Given the description of an element on the screen output the (x, y) to click on. 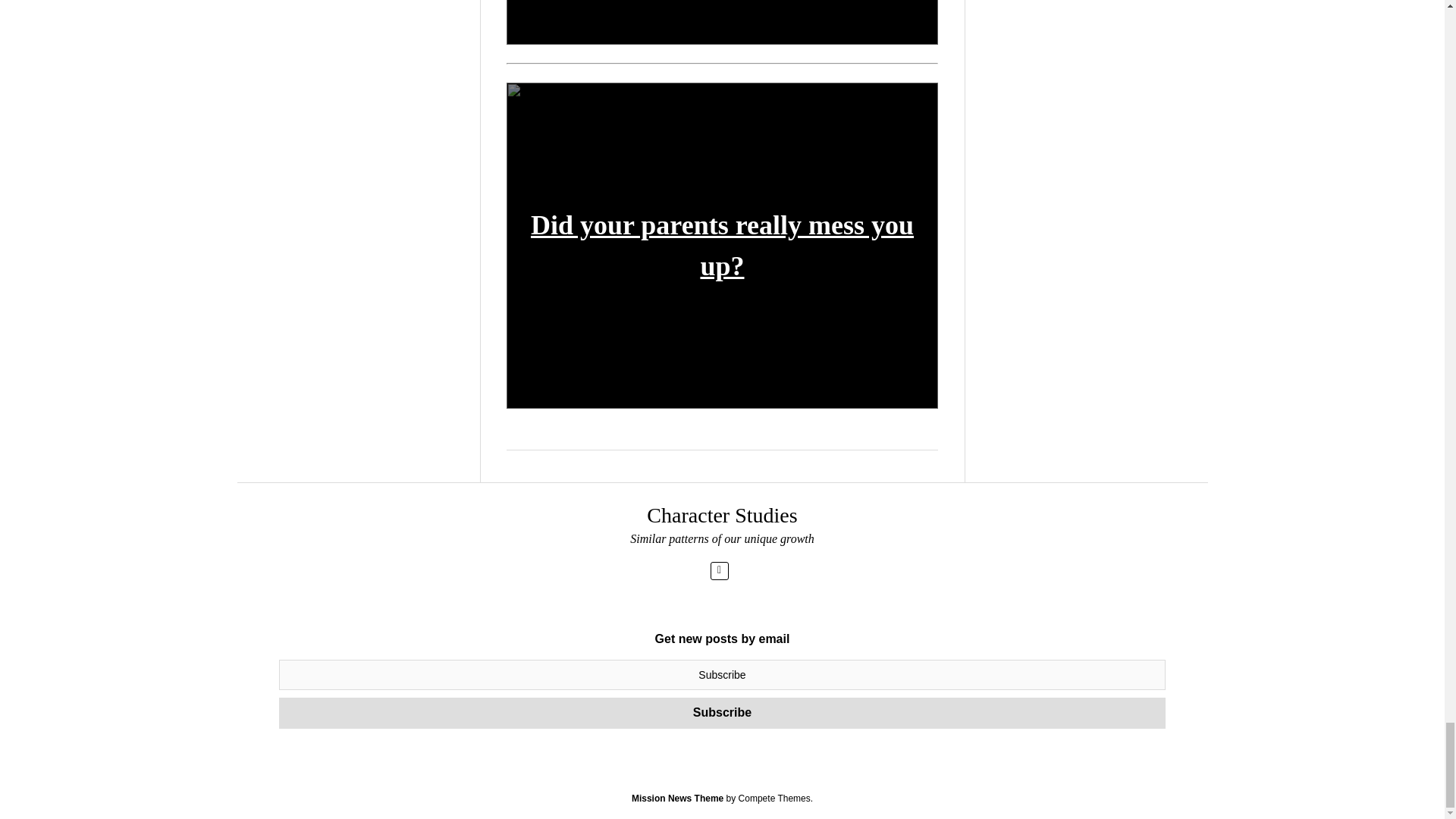
Subscribe (722, 712)
